Given the description of an element on the screen output the (x, y) to click on. 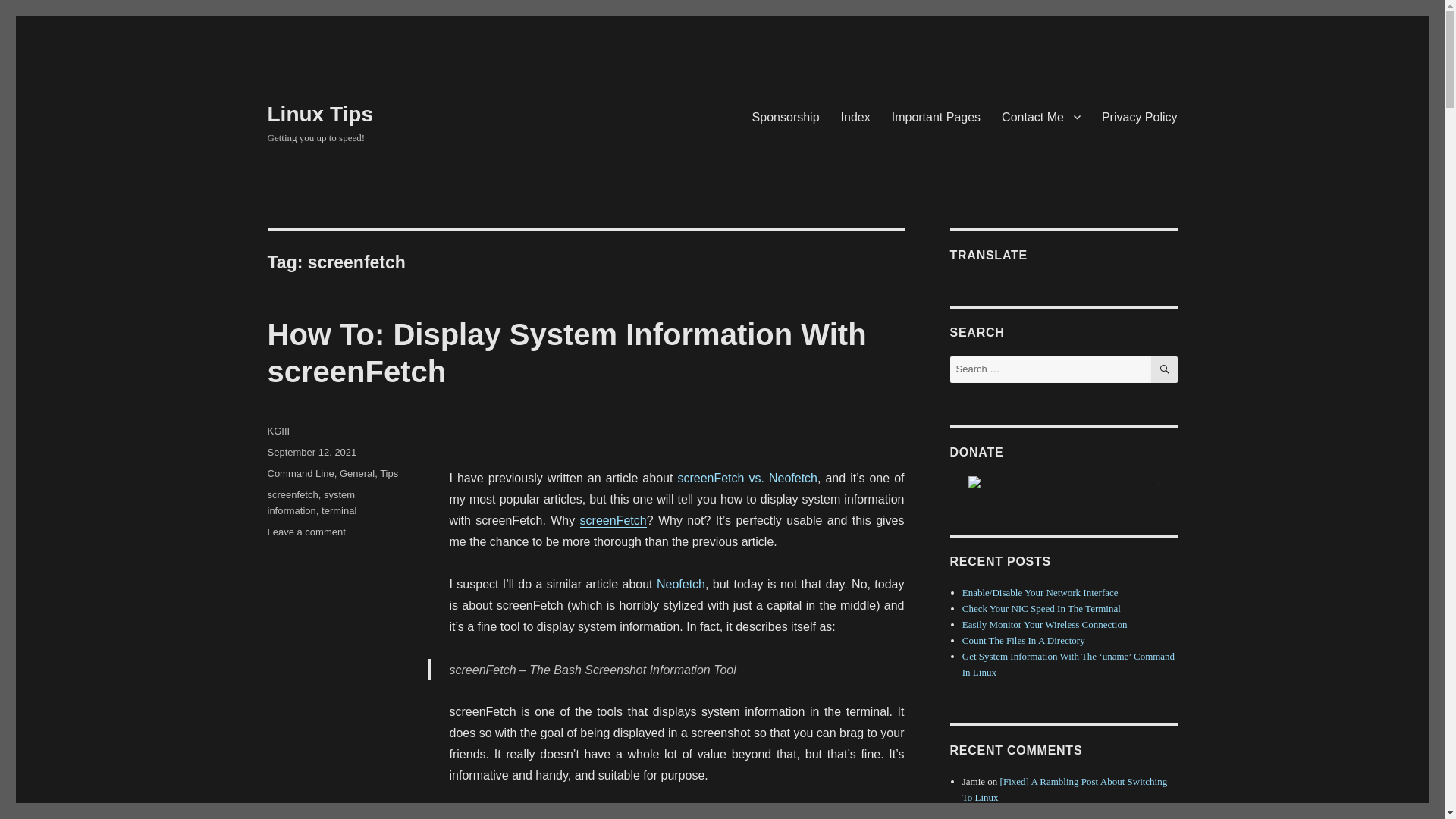
Tips (388, 473)
Screenfetch vs. Neofetch, You Decide! (746, 477)
Command Line (299, 473)
How To: Display System Information With screenFetch (566, 352)
Contact Me (1040, 116)
screenfetch (291, 494)
Sponsorship (785, 116)
September 12, 2021 (311, 451)
Important Pages (935, 116)
